Given the description of an element on the screen output the (x, y) to click on. 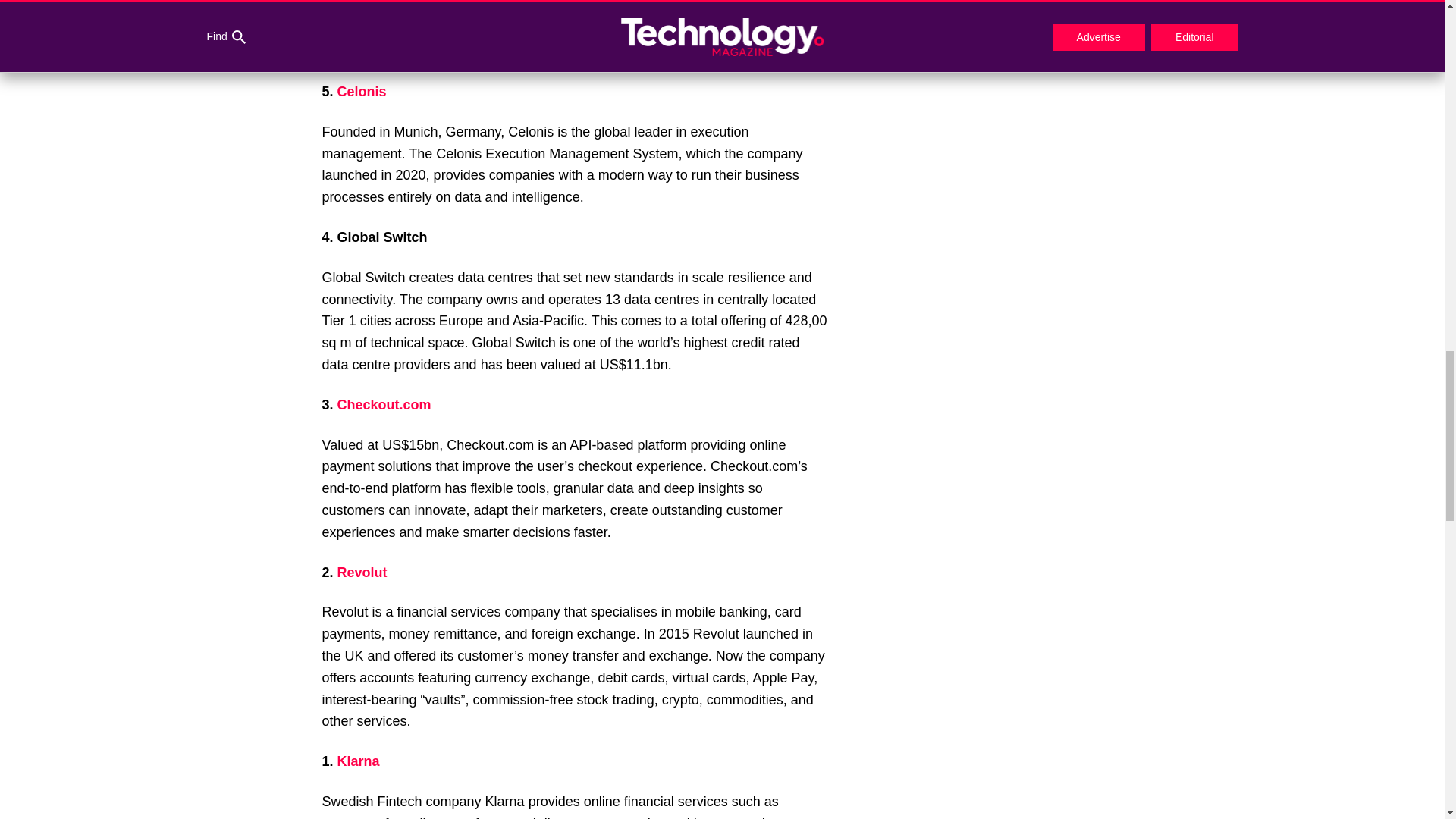
Klarna (358, 761)
Revolut (362, 572)
Celonis (362, 91)
Checkout.com (383, 404)
